Given the description of an element on the screen output the (x, y) to click on. 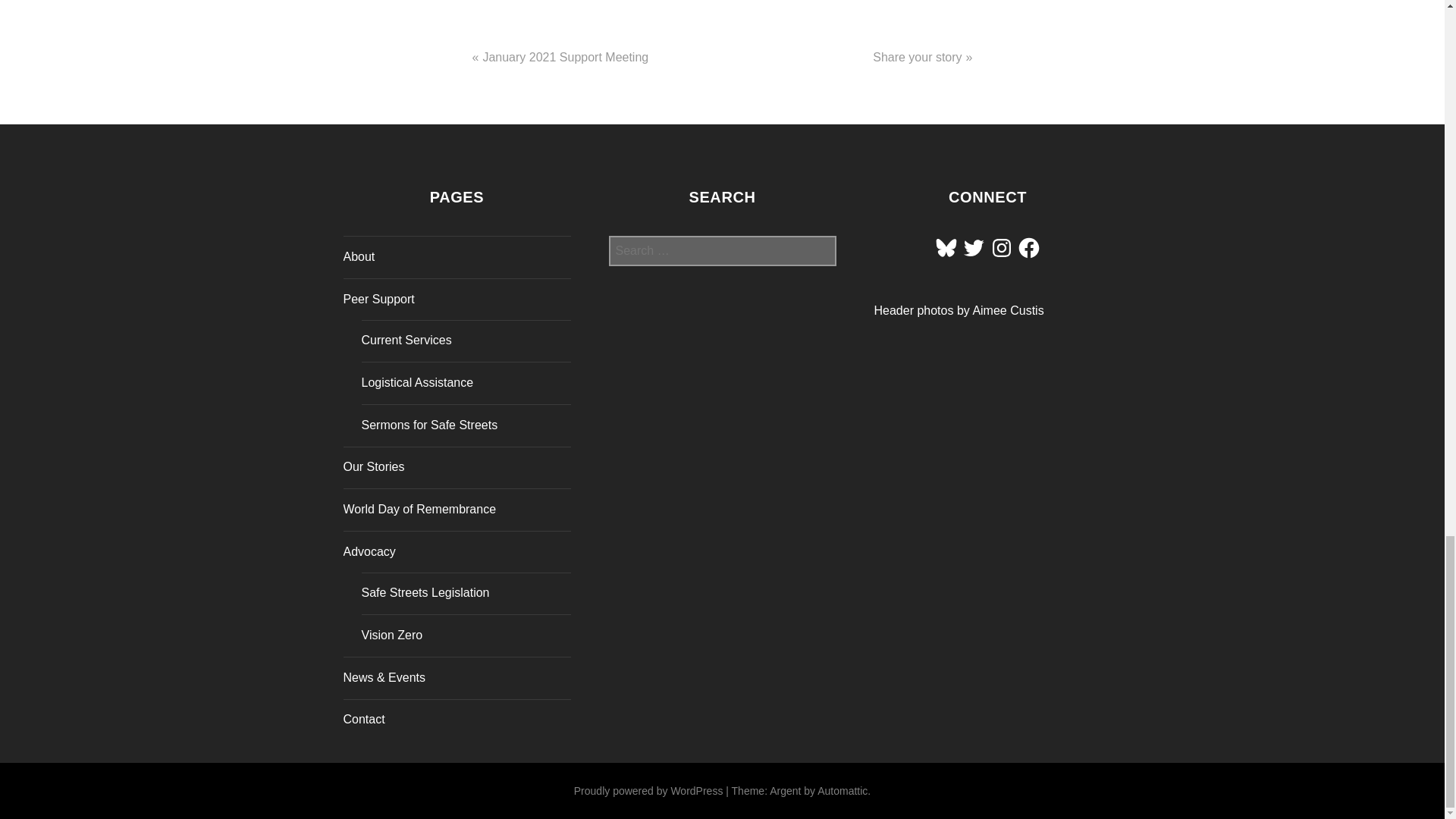
About (358, 256)
Facebook (1028, 247)
Current Services (406, 339)
Contact (363, 718)
Sermons for Safe Streets (429, 424)
Vision Zero (391, 634)
Bluesky (946, 247)
Peer Support (377, 298)
January 2021 Support Meeting (564, 56)
Logistical Assistance (417, 382)
